Given the description of an element on the screen output the (x, y) to click on. 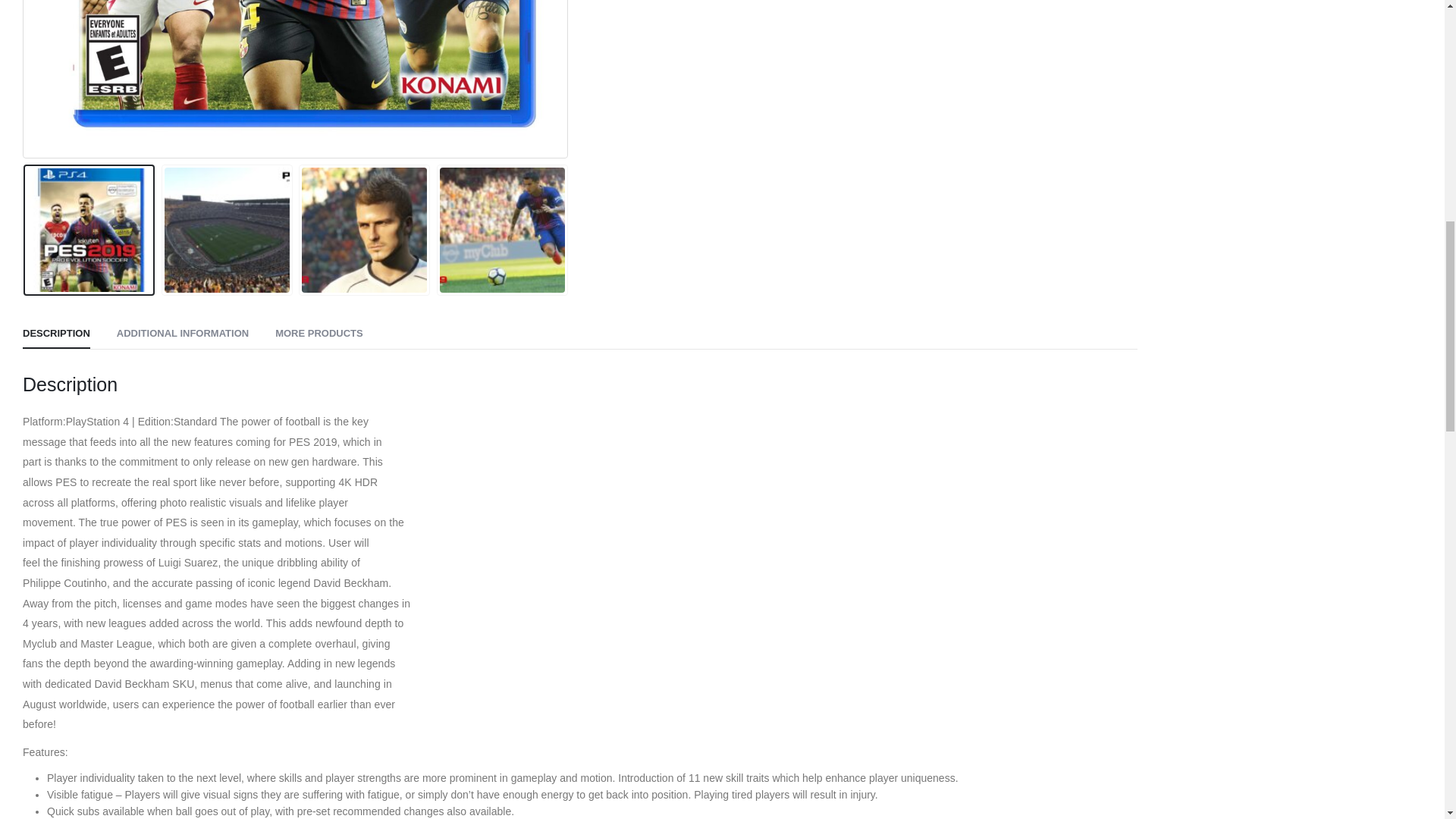
81QK7NLh2XL.jpg (295, 77)
